Given the description of an element on the screen output the (x, y) to click on. 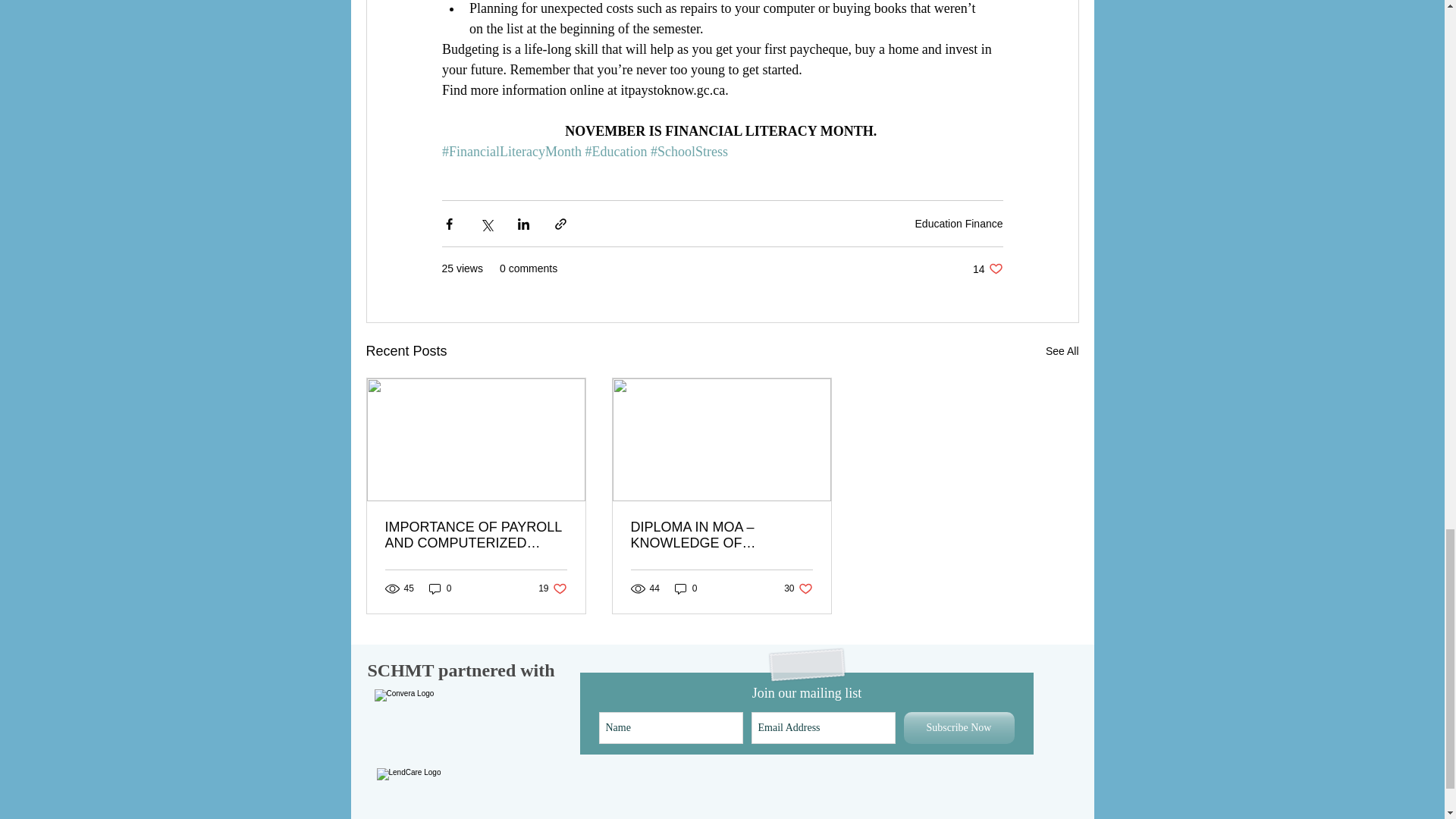
Lend-Care.png (437, 791)
